Given the description of an element on the screen output the (x, y) to click on. 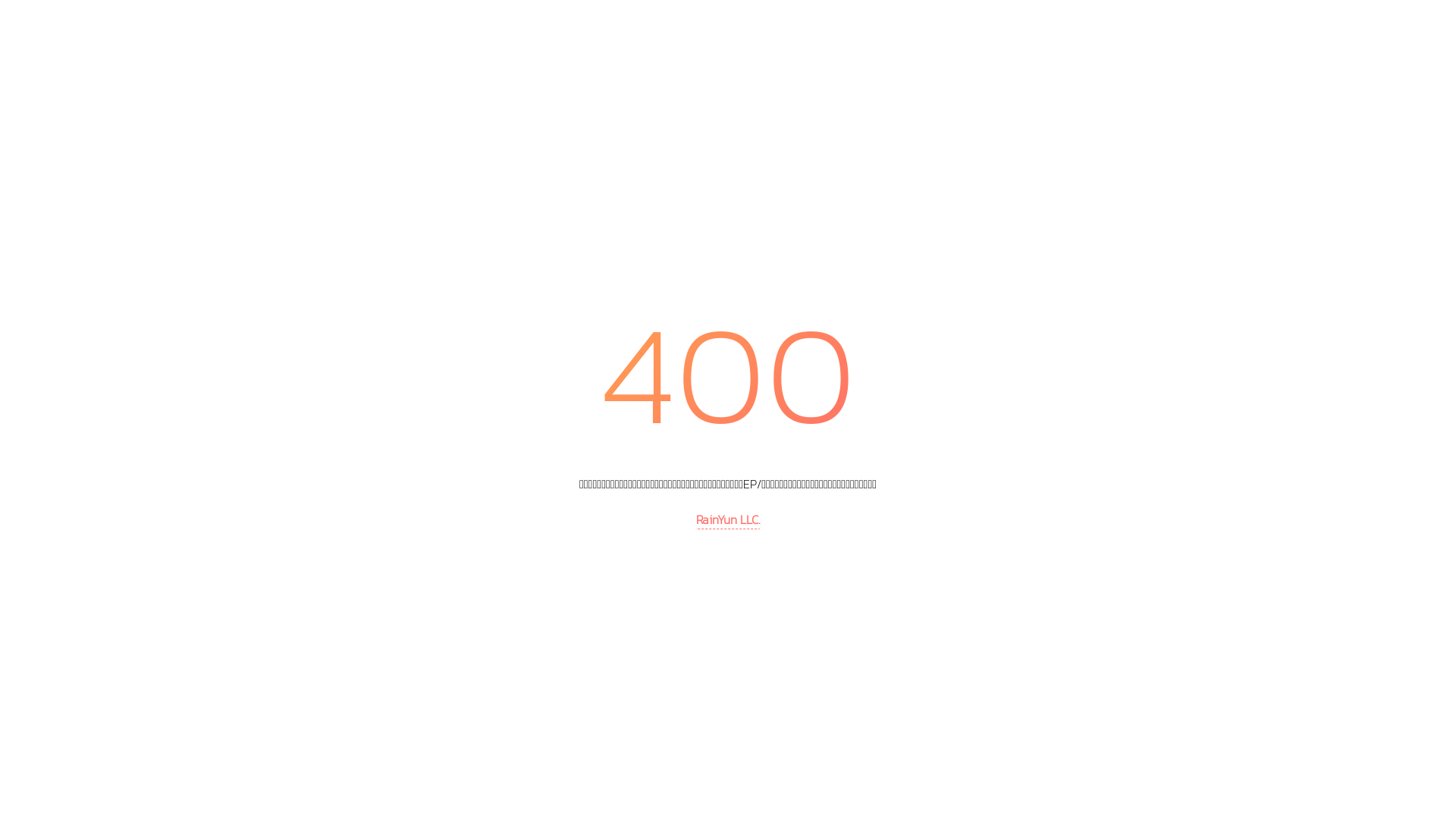
RainYun LLC. Element type: text (728, 520)
